Given the description of an element on the screen output the (x, y) to click on. 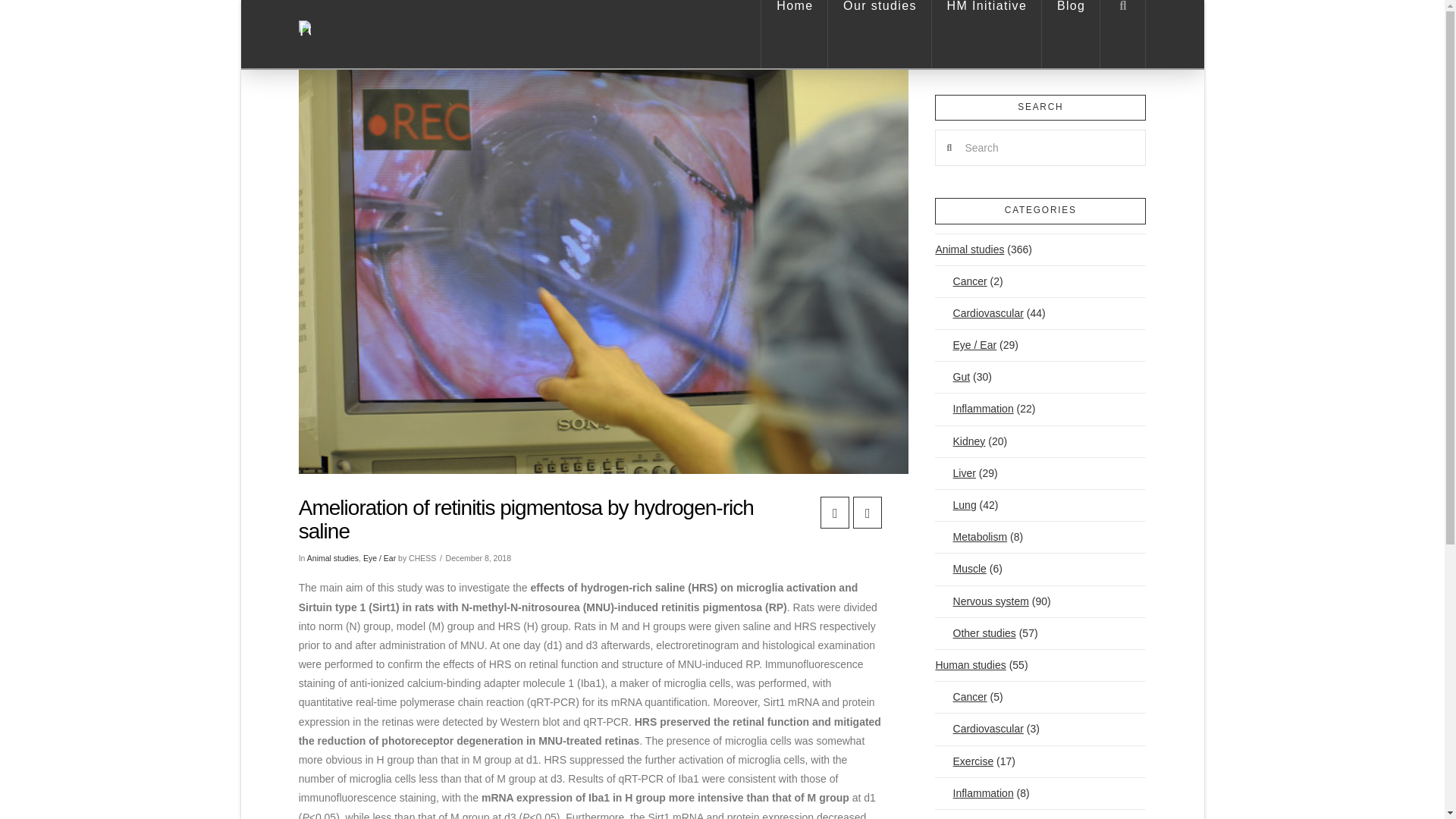
Exercise (963, 761)
Inflammation (973, 409)
Home (794, 33)
Other studies (974, 633)
Metabolism (970, 536)
Muscle (960, 568)
Cardiovascular (978, 313)
Animal studies (969, 249)
Inflammation (973, 793)
Animal studies (332, 557)
Gut (951, 377)
Kidney (959, 814)
Lung (954, 504)
Our studies (879, 33)
Cancer (960, 696)
